Given the description of an element on the screen output the (x, y) to click on. 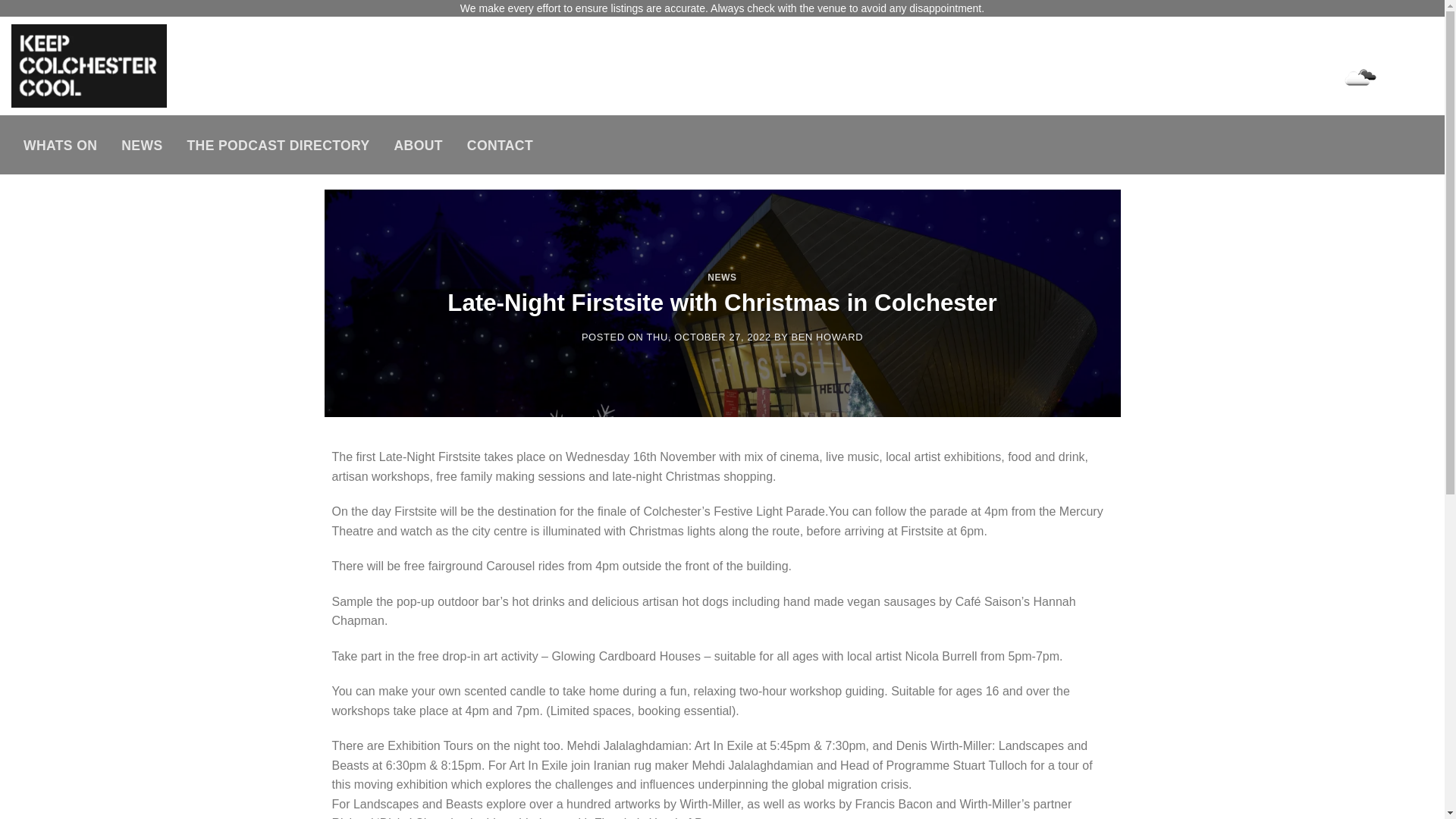
BEN HOWARD (826, 337)
NEWS (721, 276)
WHATS ON (60, 144)
Todays Weather (1351, 77)
CONTACT (499, 144)
NEWS (141, 144)
Follow on Twitter (1382, 47)
Follow on Facebook (1326, 47)
THE PODCAST DIRECTORY (277, 144)
Follow on Instagram (1354, 47)
THU, OCTOBER 27, 2022 (708, 337)
Send us an email (1409, 47)
ABOUT (417, 144)
